Given the description of an element on the screen output the (x, y) to click on. 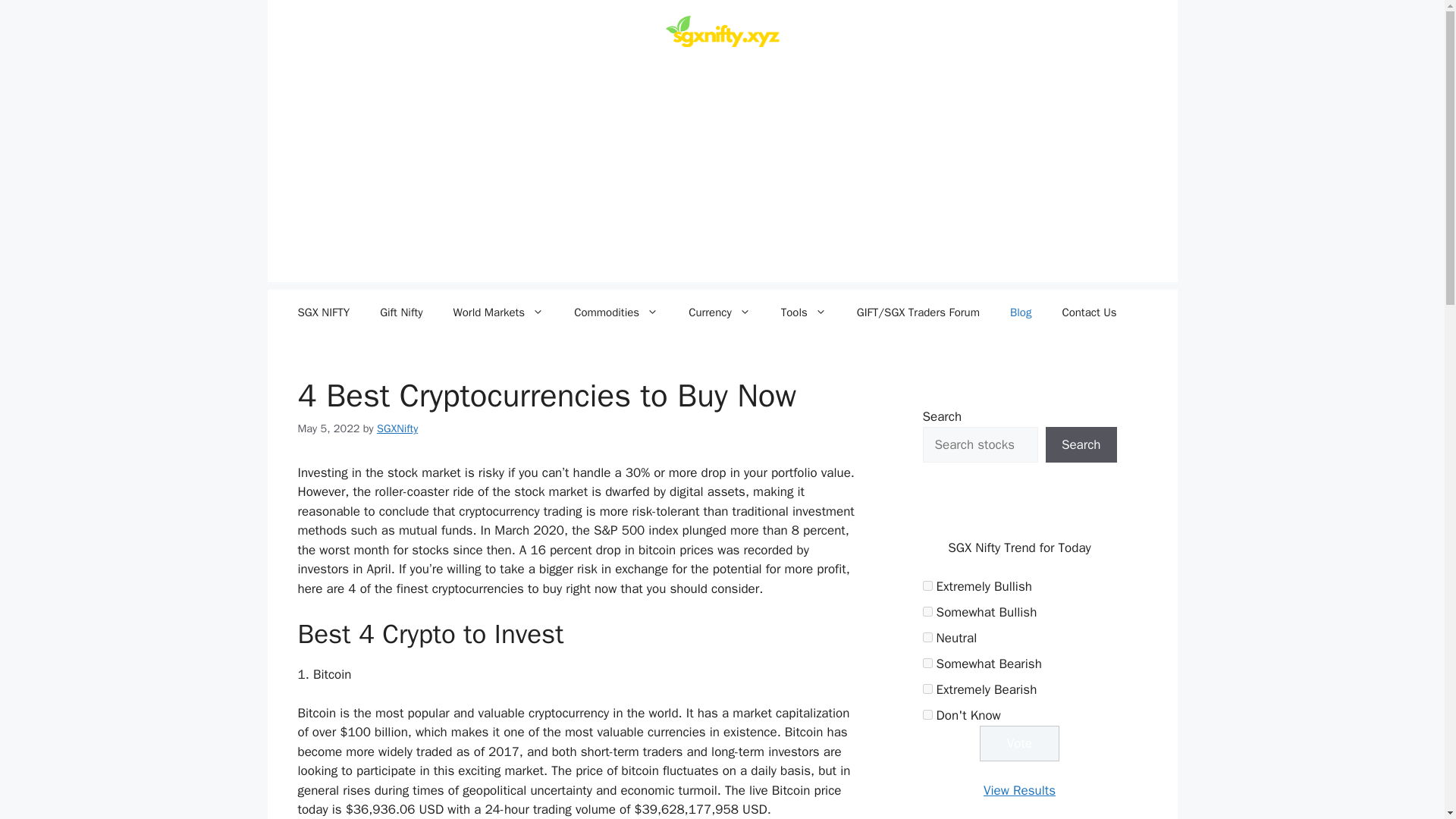
9 (926, 663)
6 (926, 585)
Gift Nifty (401, 311)
View all posts by SGXNifty (397, 427)
World Markets (498, 311)
7 (926, 611)
Tools (803, 311)
Contact Us (1088, 311)
   Vote    (1019, 743)
View Results Of This Poll (1019, 790)
11 (926, 714)
Commodities (615, 311)
8 (926, 637)
Blog (1020, 311)
